Given the description of an element on the screen output the (x, y) to click on. 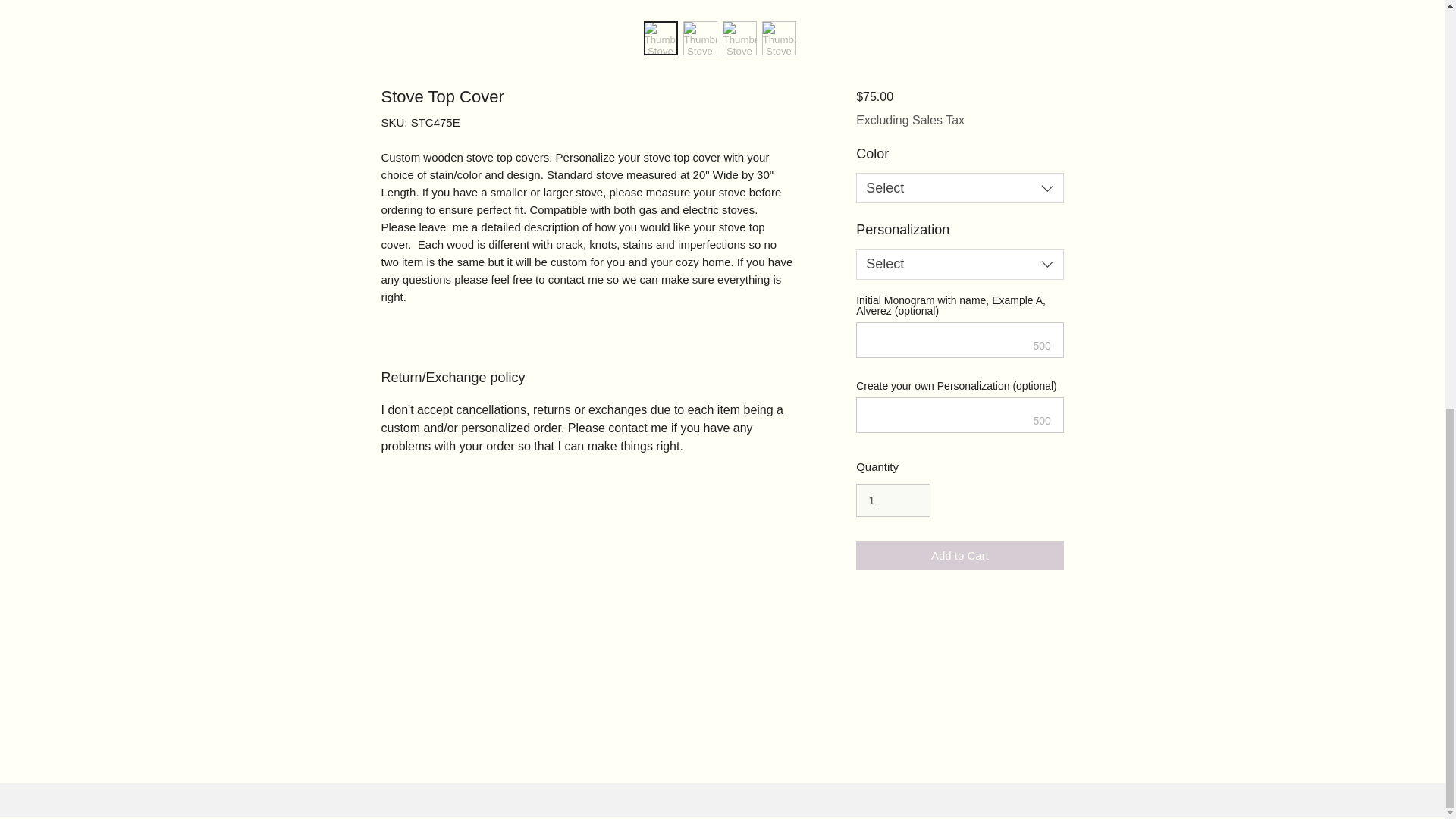
Add to Cart (959, 555)
Select (959, 264)
1 (893, 500)
Select (959, 187)
